Given the description of an element on the screen output the (x, y) to click on. 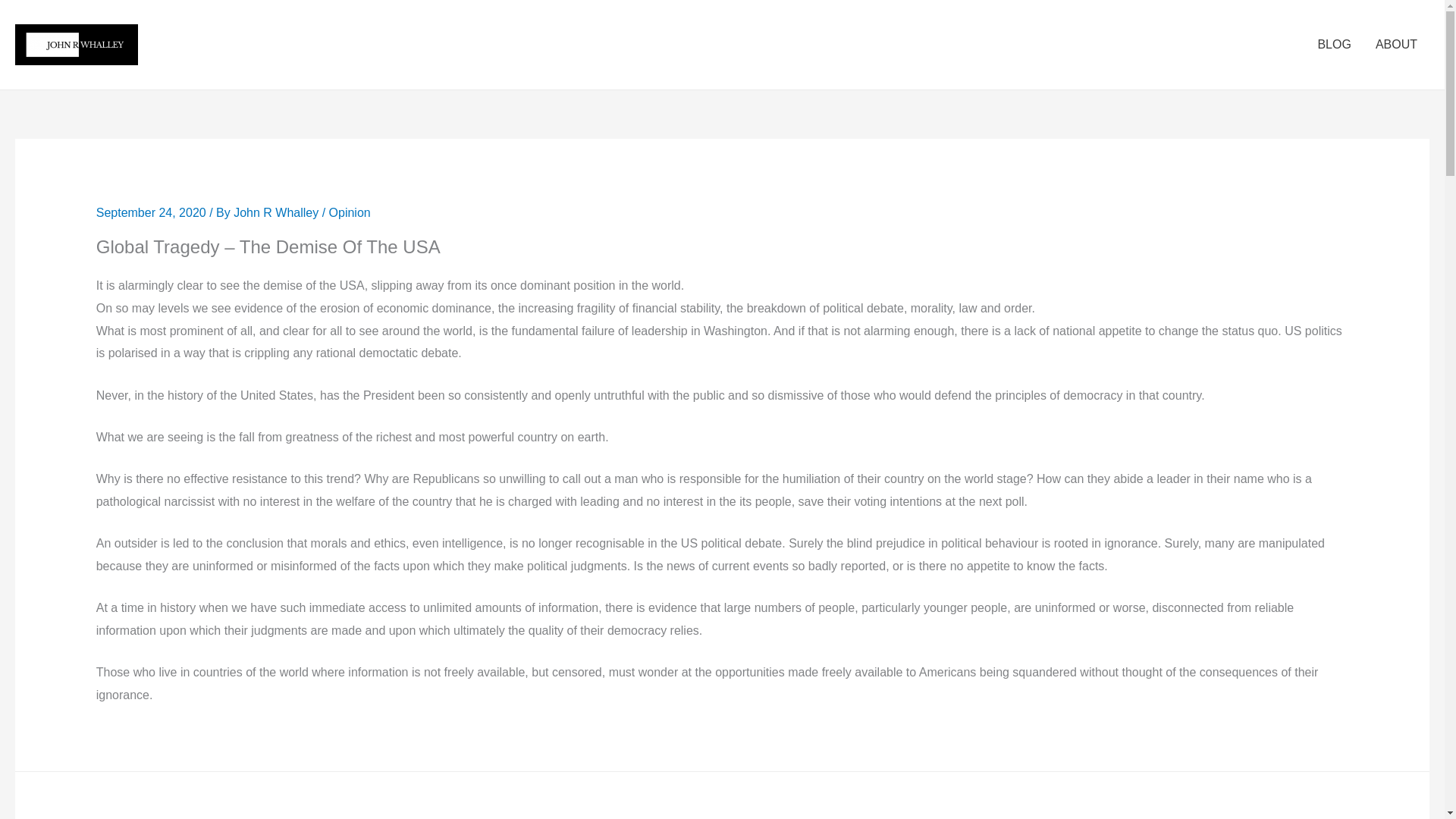
John R Whalley (276, 212)
Opinion (350, 212)
ABOUT (1395, 44)
BLOG (1333, 44)
View all posts by John R Whalley (276, 212)
